Given the description of an element on the screen output the (x, y) to click on. 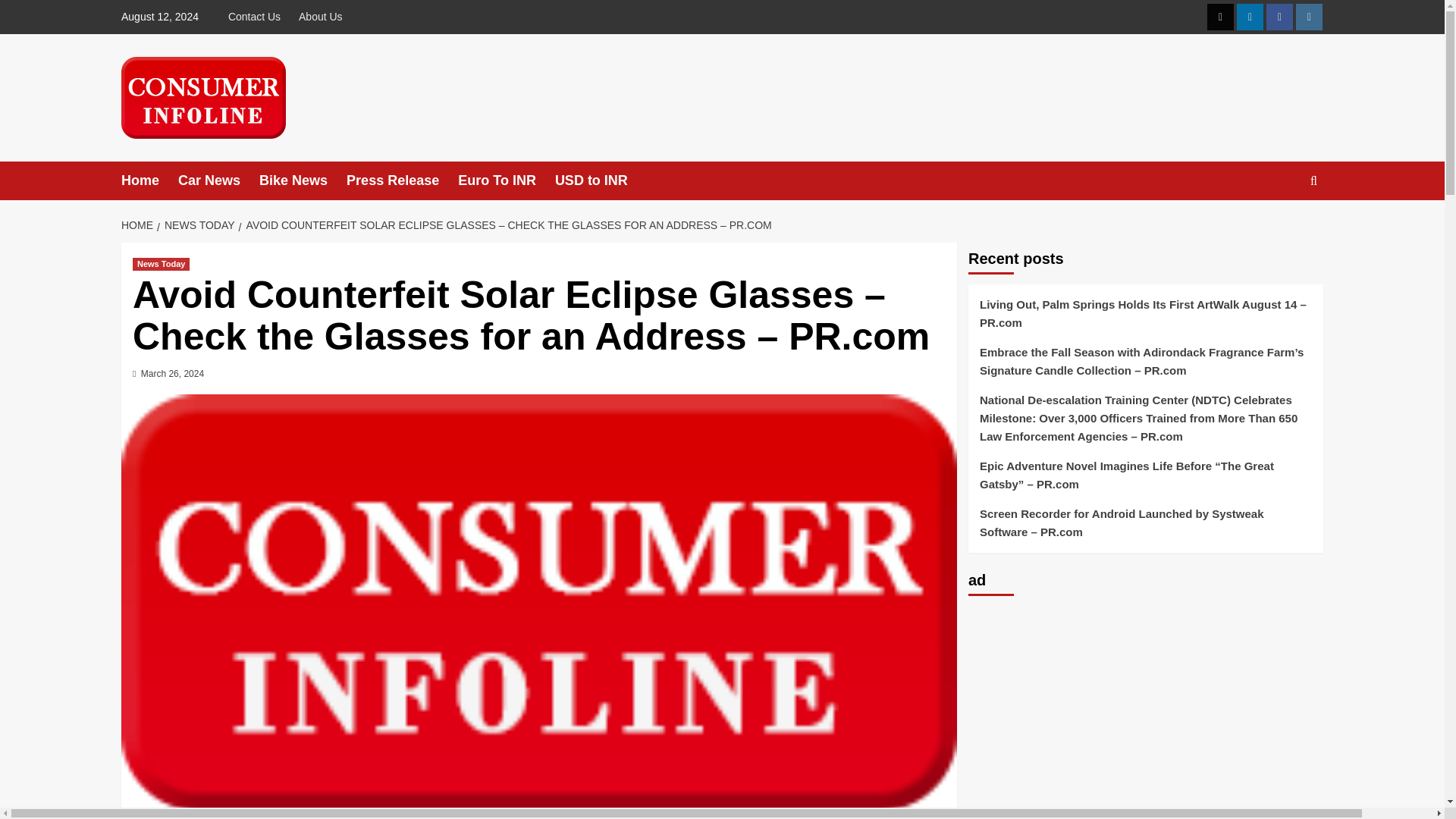
Facebook (1279, 17)
Car News (218, 180)
Linkedin (1249, 17)
Euro To INR (506, 180)
NEWS TODAY (197, 224)
About Us (320, 17)
Home (148, 180)
Twitter (1220, 17)
HOME (138, 224)
